Given the description of an element on the screen output the (x, y) to click on. 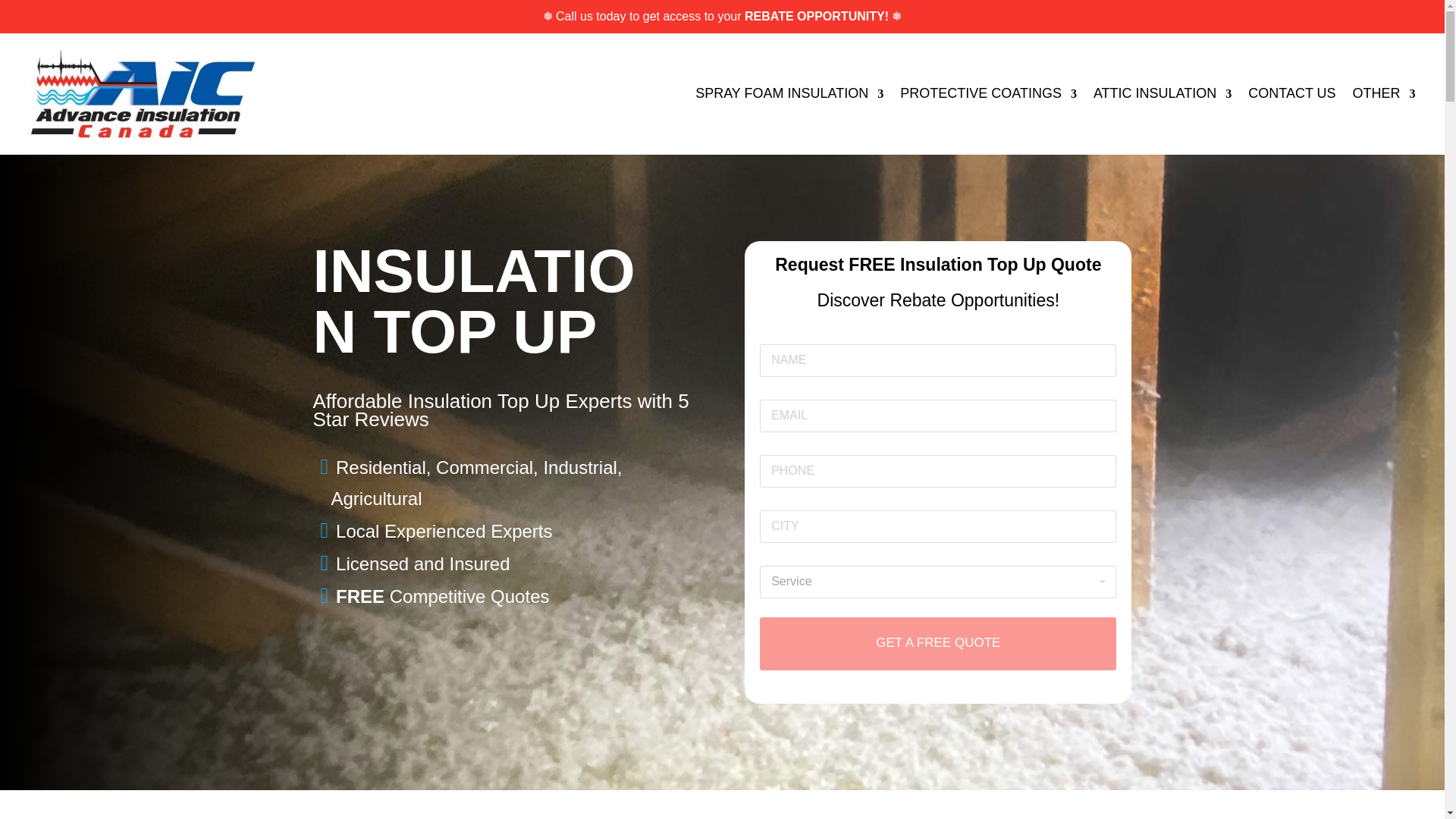
CONTACT US (1291, 93)
ATTIC INSULATION (1162, 93)
PROTECTIVE COATINGS (988, 93)
SPRAY FOAM INSULATION (789, 93)
